Given the description of an element on the screen output the (x, y) to click on. 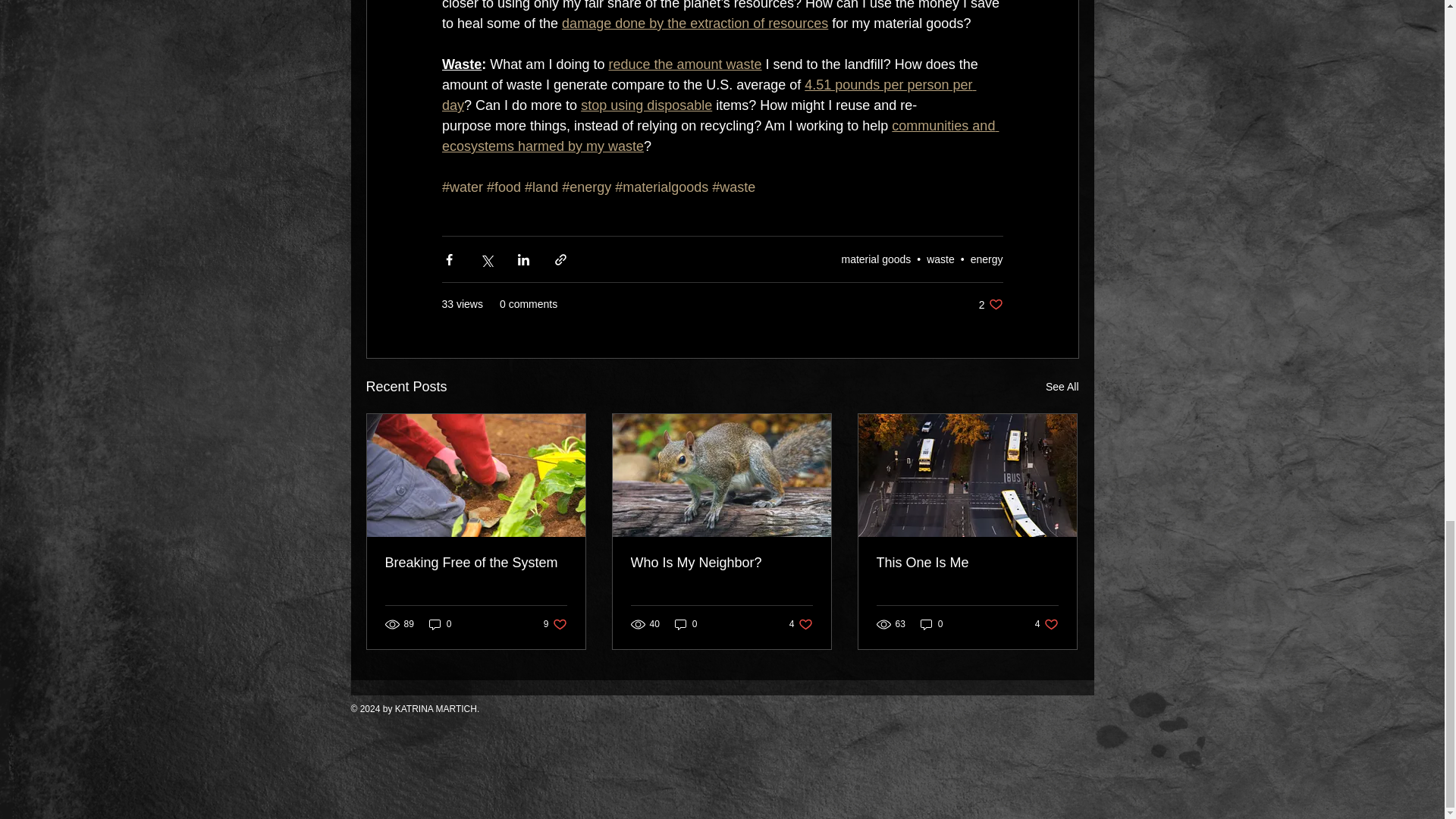
reduce the amount waste (684, 64)
4.51 pounds per person per day (708, 94)
damage done by the extraction of resources (695, 23)
stop using disposable (645, 105)
communities and ecosystems harmed by my waste (719, 135)
